Given the description of an element on the screen output the (x, y) to click on. 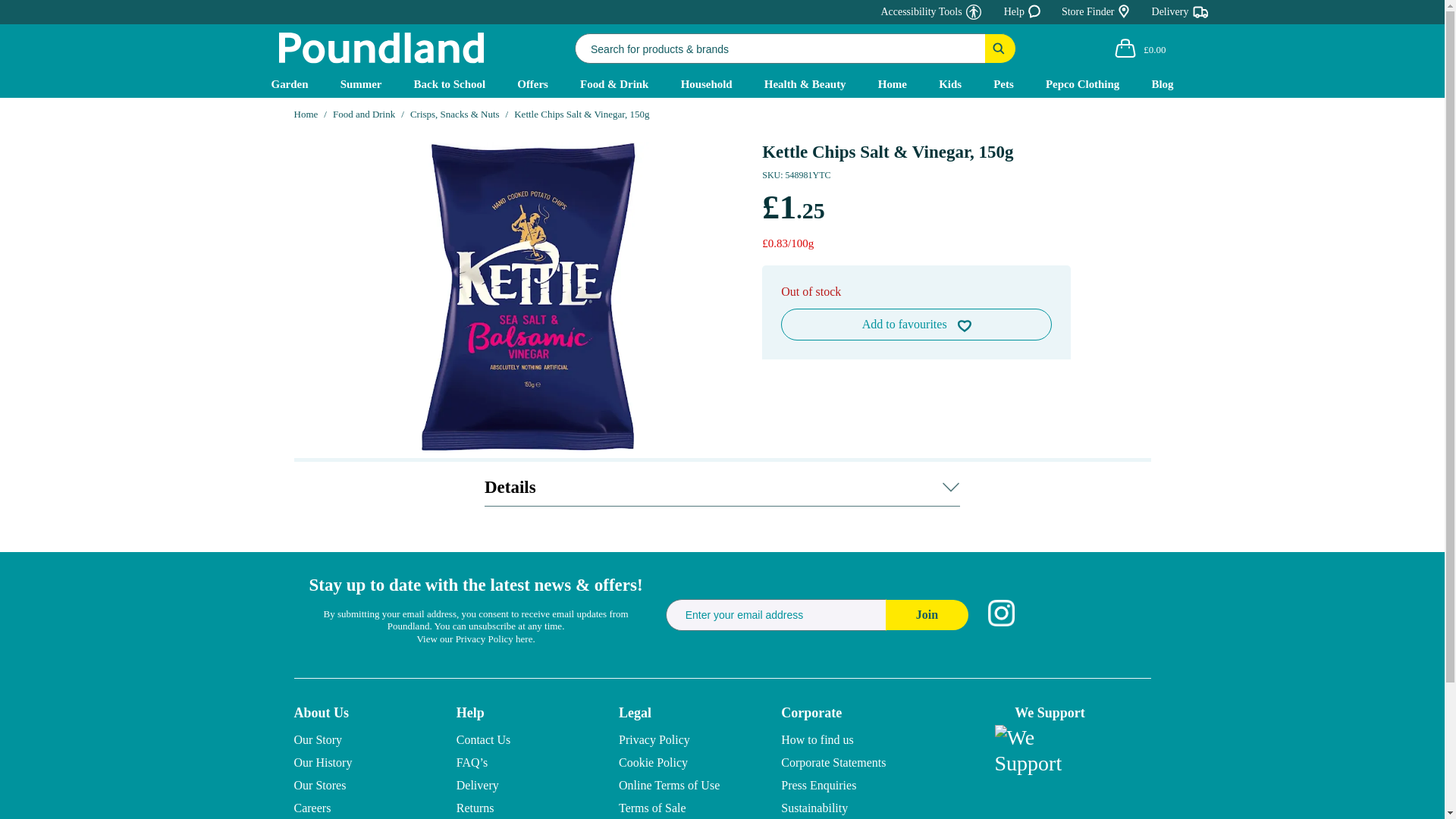
Summer (361, 83)
Store Finder (1097, 15)
Help (1023, 15)
Garden (289, 83)
Poundland (381, 47)
Search (1000, 48)
Accessibility Tools (922, 15)
Join (927, 614)
Go to Home Page (306, 113)
Delivery (1179, 15)
